Given the description of an element on the screen output the (x, y) to click on. 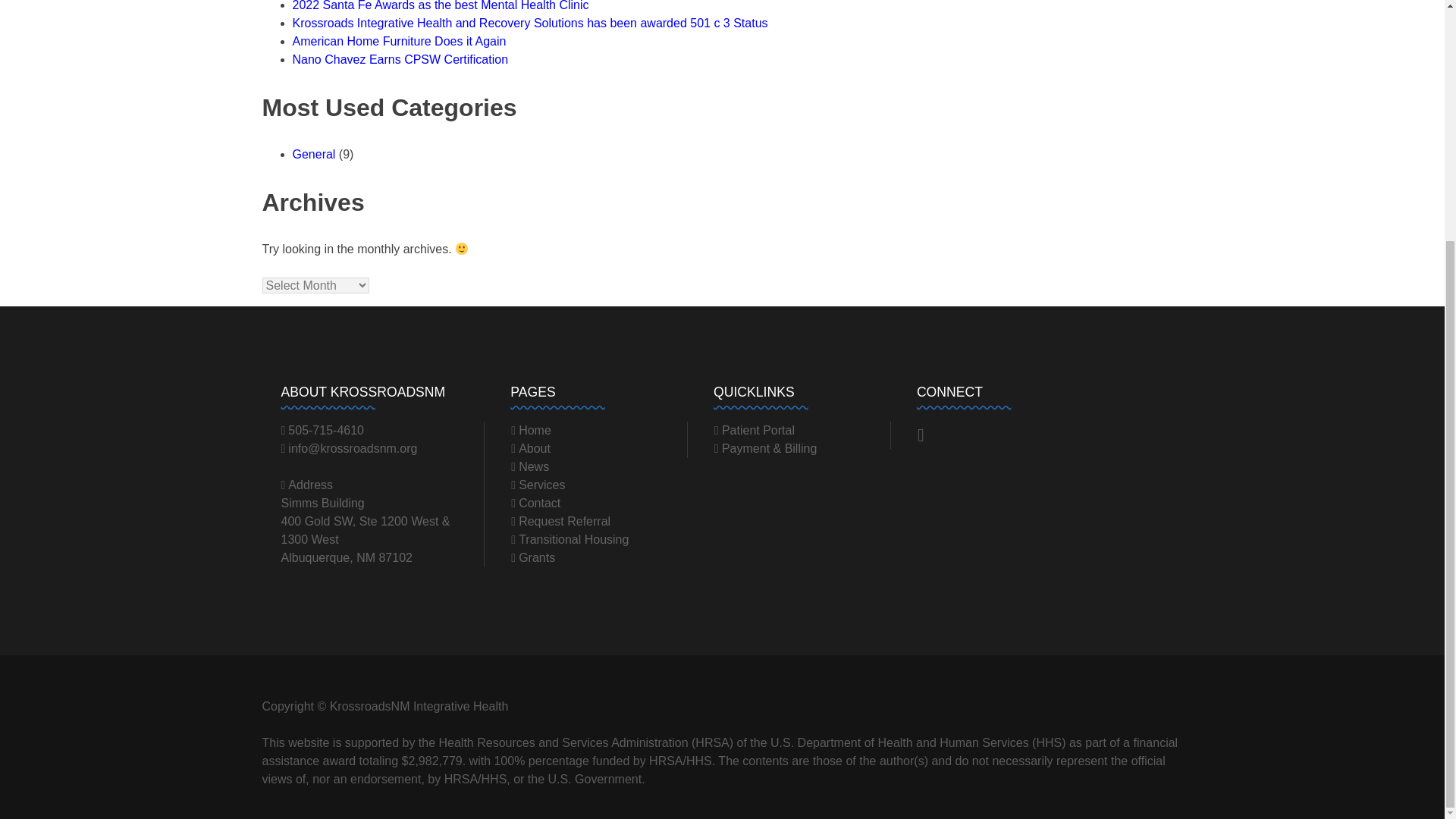
Services (537, 484)
Nano Chavez Earns CPSW Certification (400, 59)
Home (531, 430)
505-715-4610 (321, 430)
News (529, 466)
General (314, 154)
American Home Furniture Does it Again (399, 41)
About (530, 448)
Referral Form (560, 521)
2022 Santa Fe Awards as the best Mental Health Clinic (440, 5)
